Given the description of an element on the screen output the (x, y) to click on. 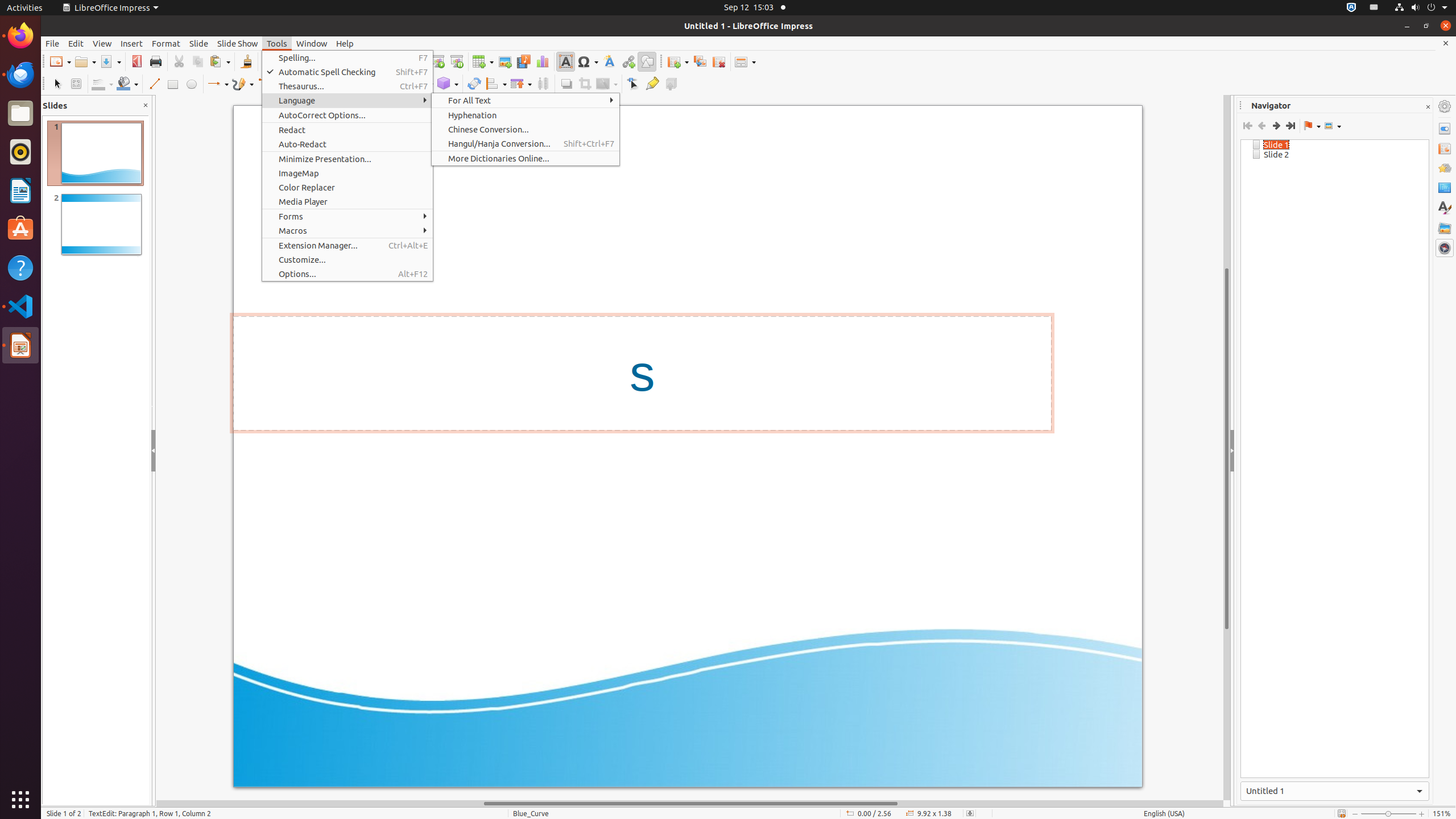
Close Sidebar Deck Element type: push-button (1427, 106)
Rhythmbox Element type: push-button (20, 151)
Gallery Element type: radio-button (1444, 227)
